Given the description of an element on the screen output the (x, y) to click on. 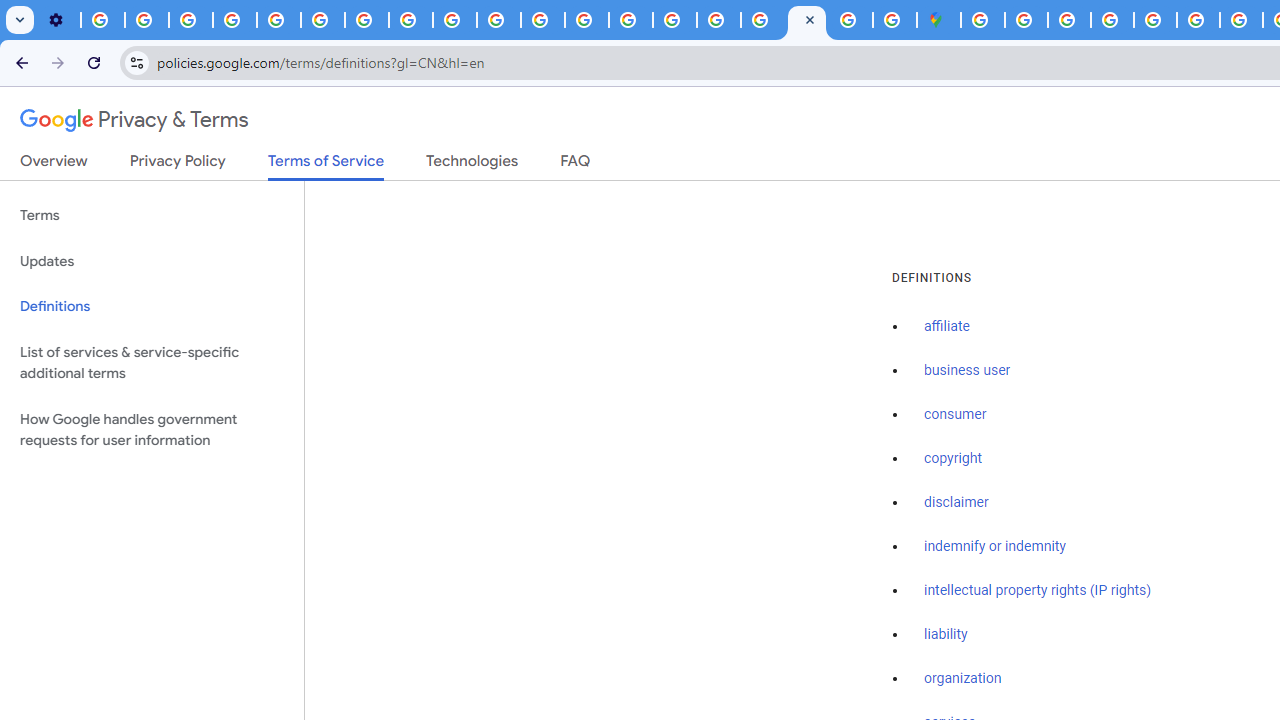
Settings - Customize profile (58, 20)
business user (967, 371)
Privacy Help Center - Policies Help (586, 20)
Sign in - Google Accounts (1026, 20)
Sign in - Google Accounts (982, 20)
Learn how to find your photos - Google Photos Help (146, 20)
How Google handles government requests for user information (152, 429)
